Given the description of an element on the screen output the (x, y) to click on. 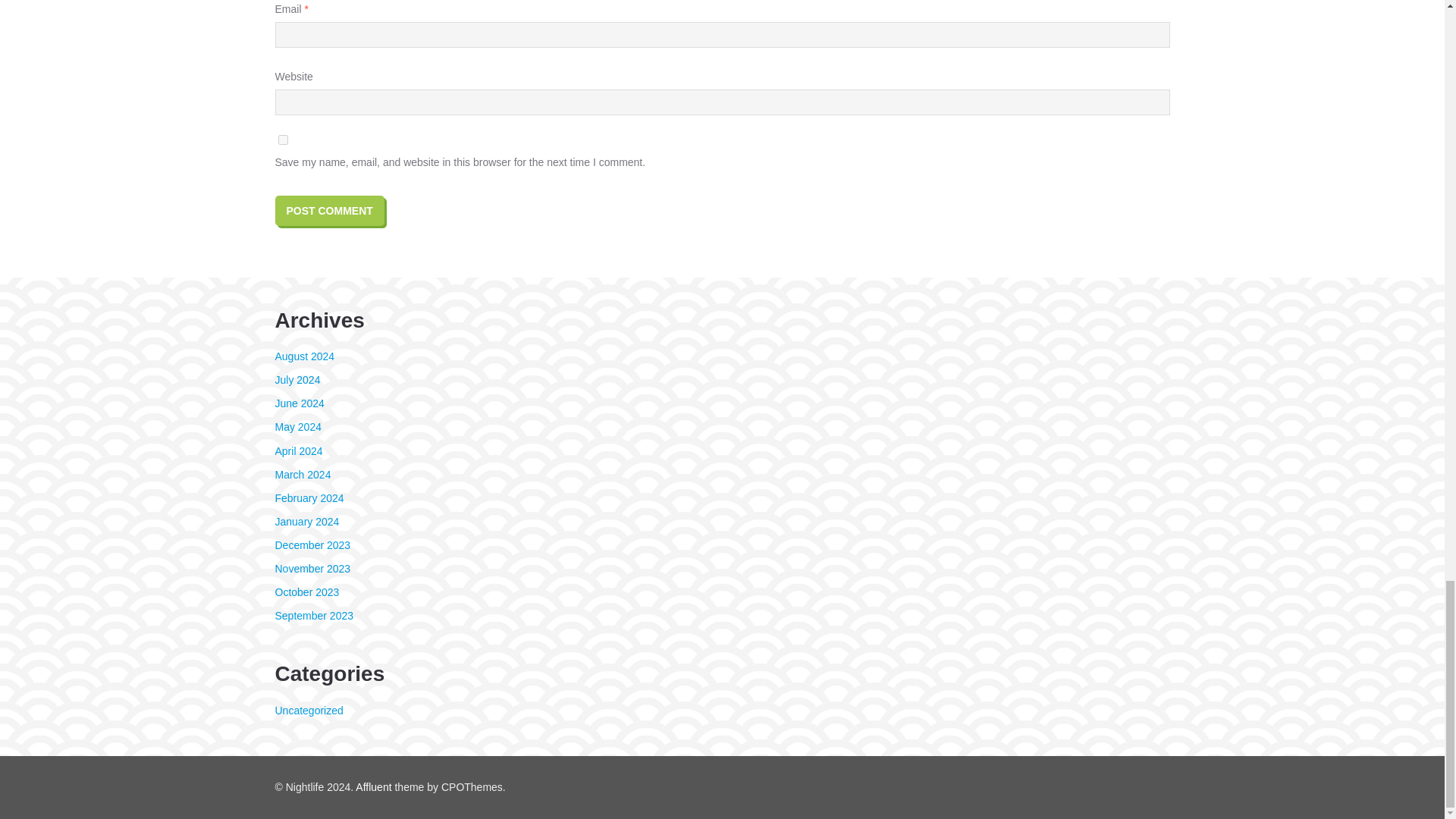
February 2024 (309, 498)
May 2024 (297, 426)
Uncategorized (308, 710)
August 2024 (304, 356)
September 2023 (314, 615)
October 2023 (307, 592)
November 2023 (312, 568)
Post Comment (329, 210)
March 2024 (302, 474)
July 2024 (297, 379)
December 2023 (312, 544)
Affluent (373, 787)
June 2024 (299, 403)
Post Comment (329, 210)
April 2024 (298, 451)
